Given the description of an element on the screen output the (x, y) to click on. 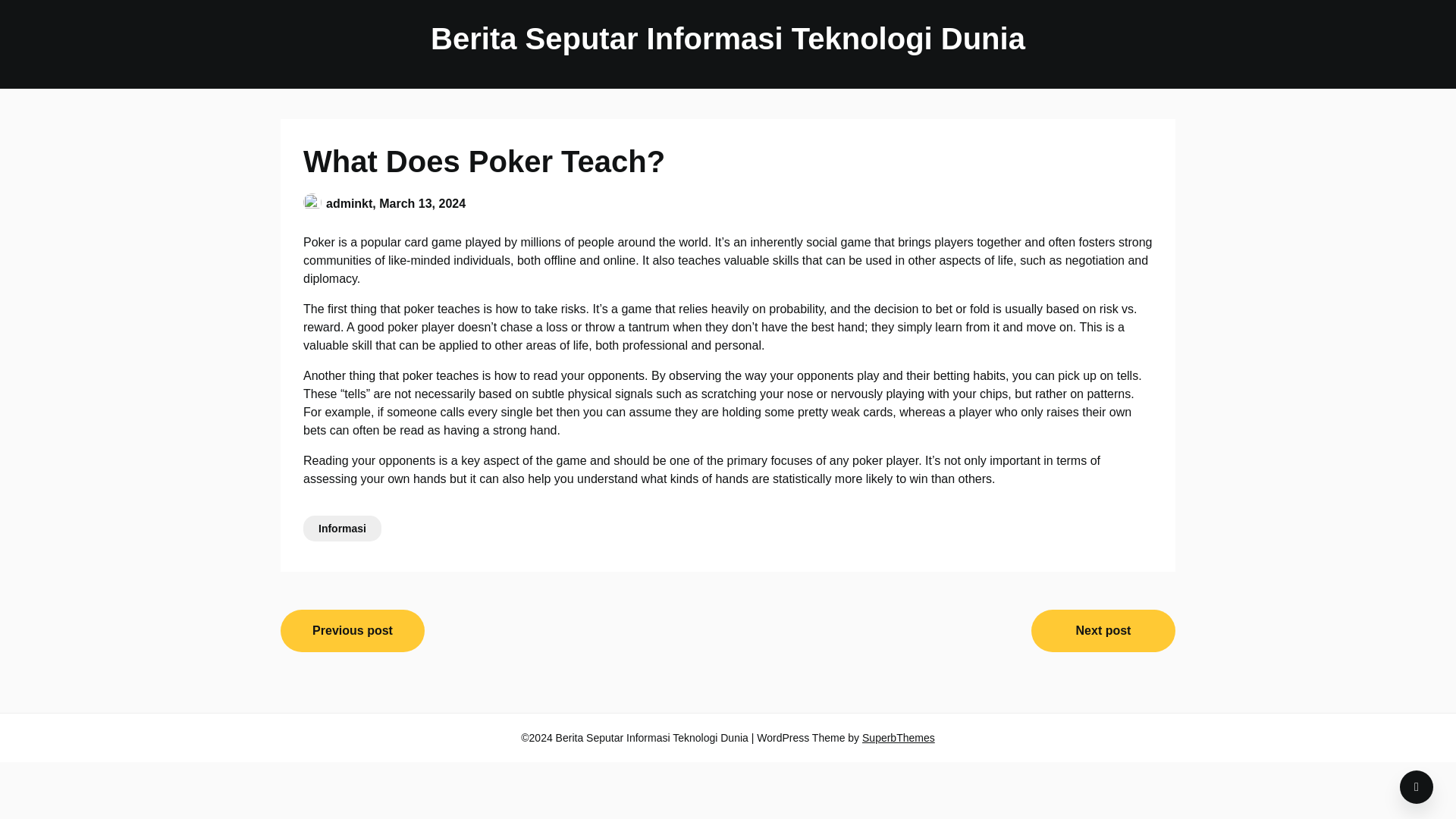
SuperbThemes (897, 737)
March 13, 2024 (421, 203)
Next post (1102, 630)
Informasi (341, 528)
Berita Seputar Informasi Teknologi Dunia (727, 38)
Previous post (353, 630)
